Given the description of an element on the screen output the (x, y) to click on. 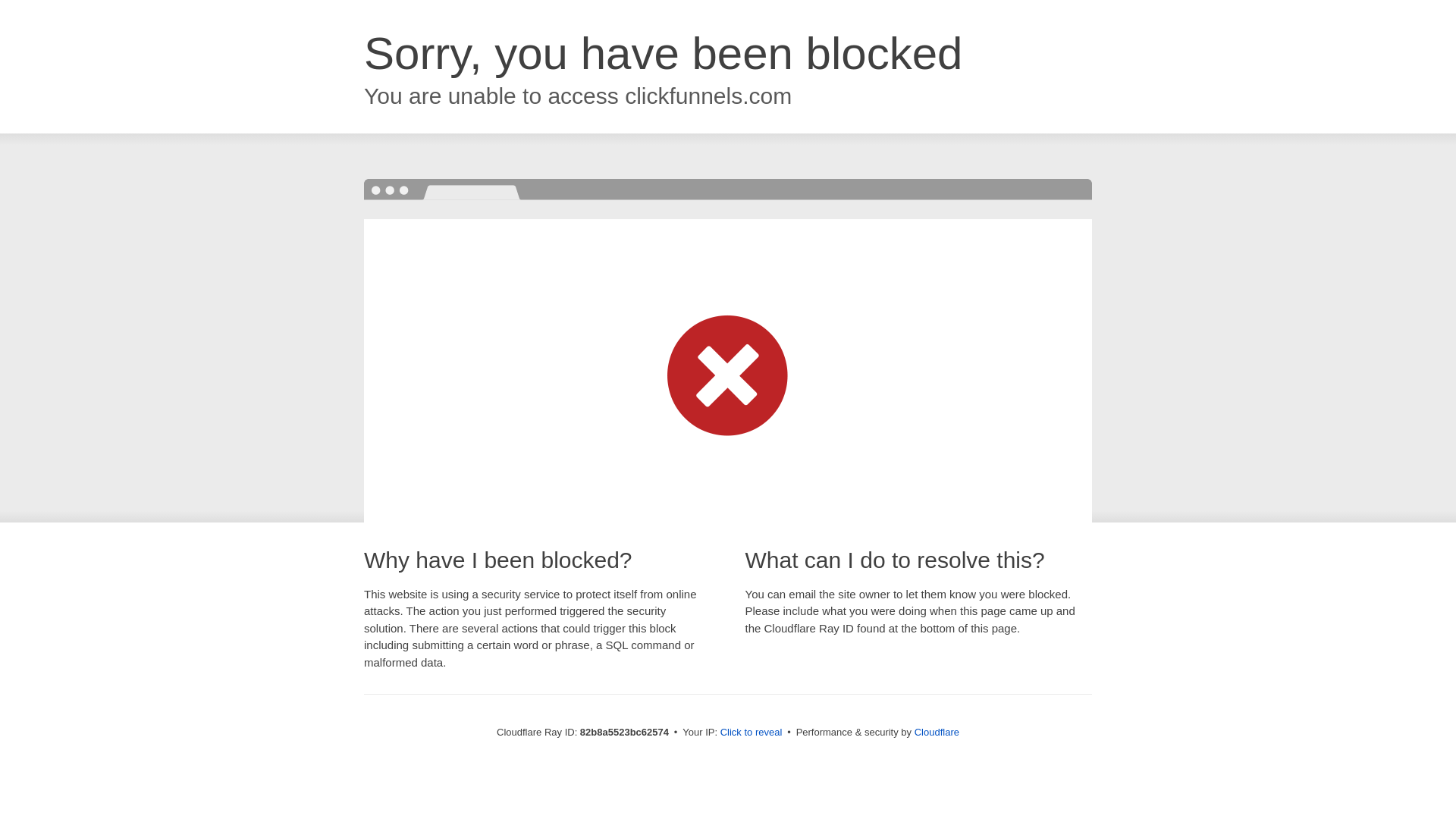
Click to reveal Element type: text (751, 732)
Cloudflare Element type: text (936, 731)
